Given the description of an element on the screen output the (x, y) to click on. 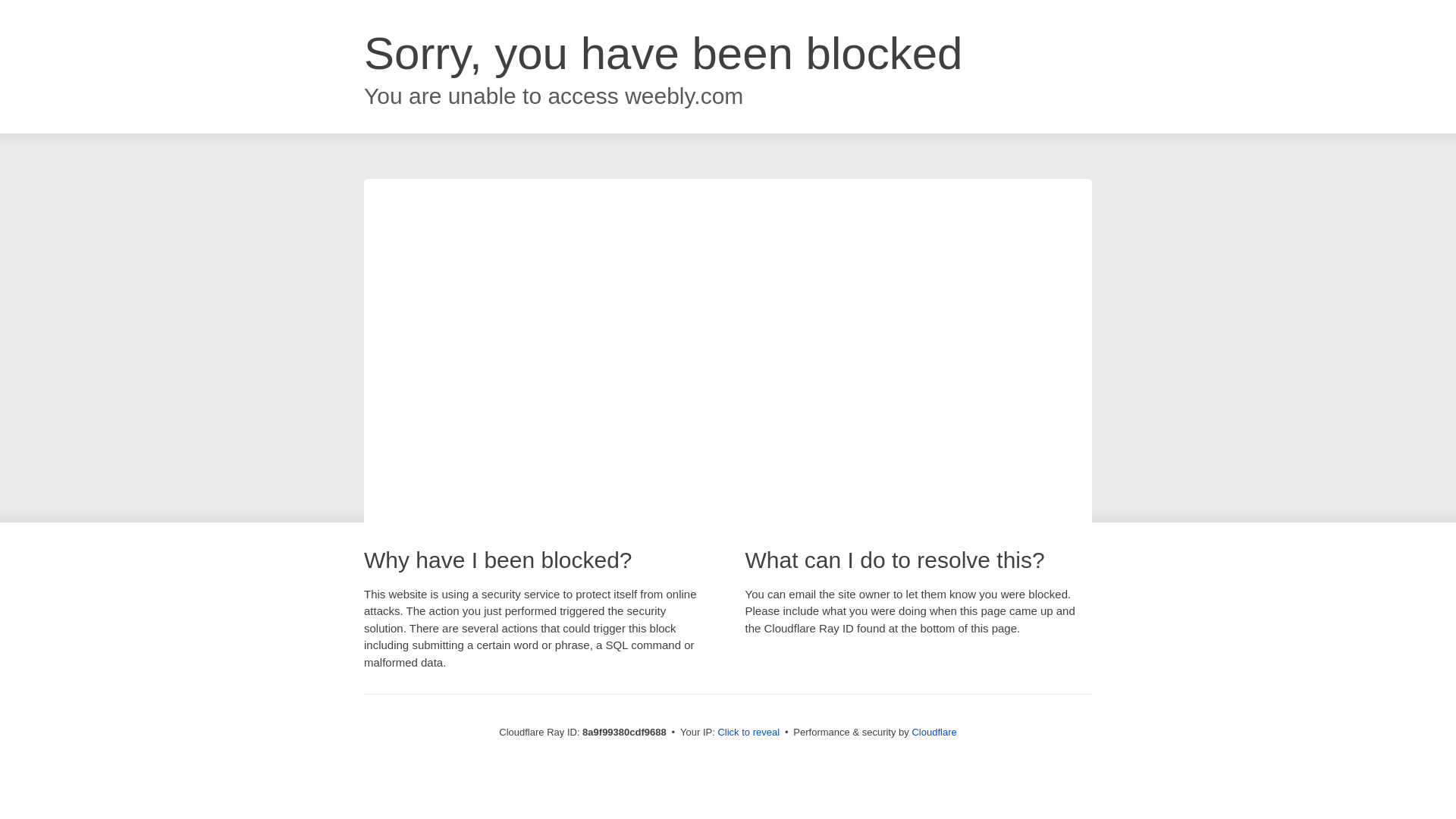
Click to reveal (747, 732)
Cloudflare (933, 731)
